Given the description of an element on the screen output the (x, y) to click on. 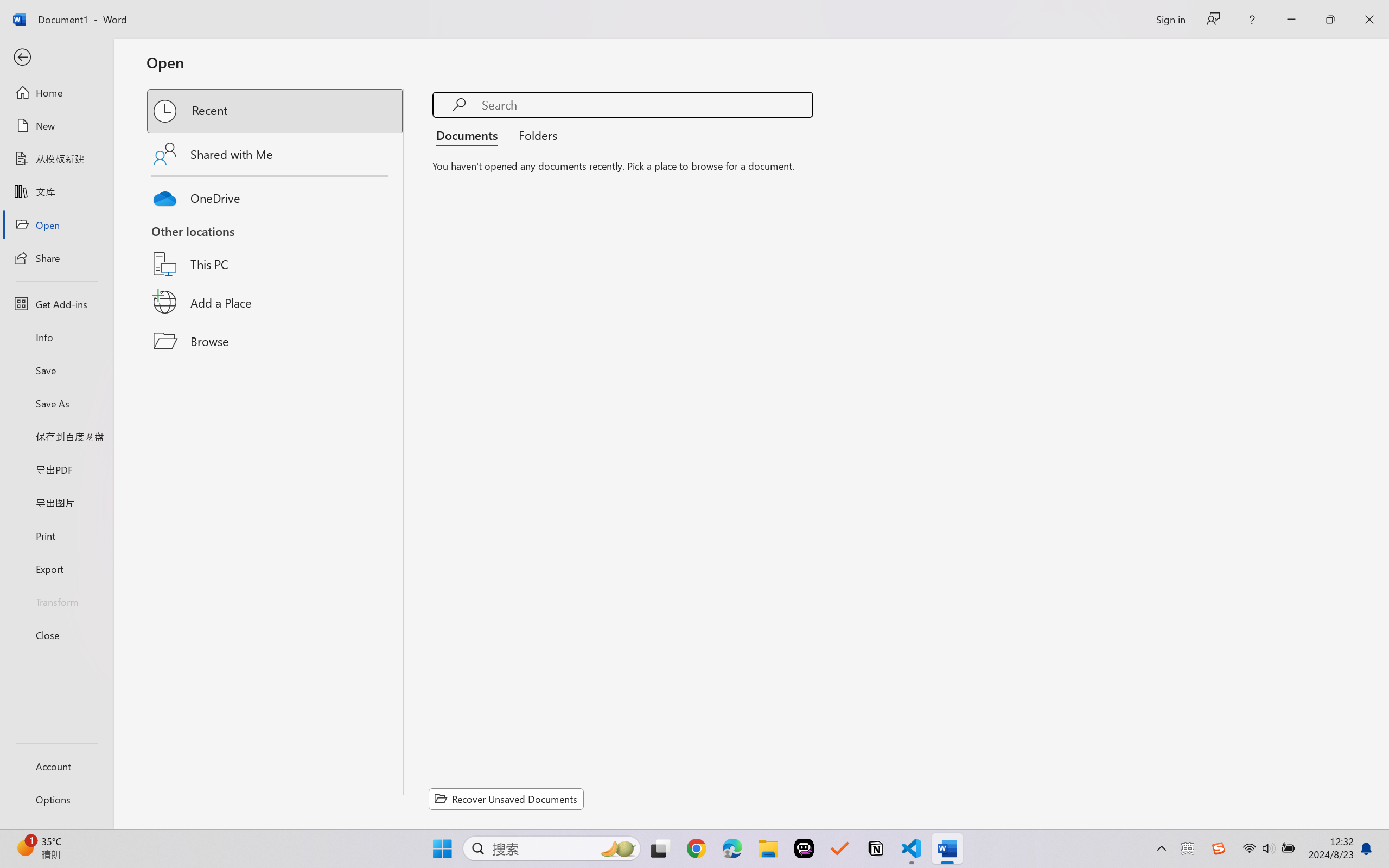
Transform (56, 601)
Get Add-ins (56, 303)
Info (56, 337)
Save As (56, 403)
